Given the description of an element on the screen output the (x, y) to click on. 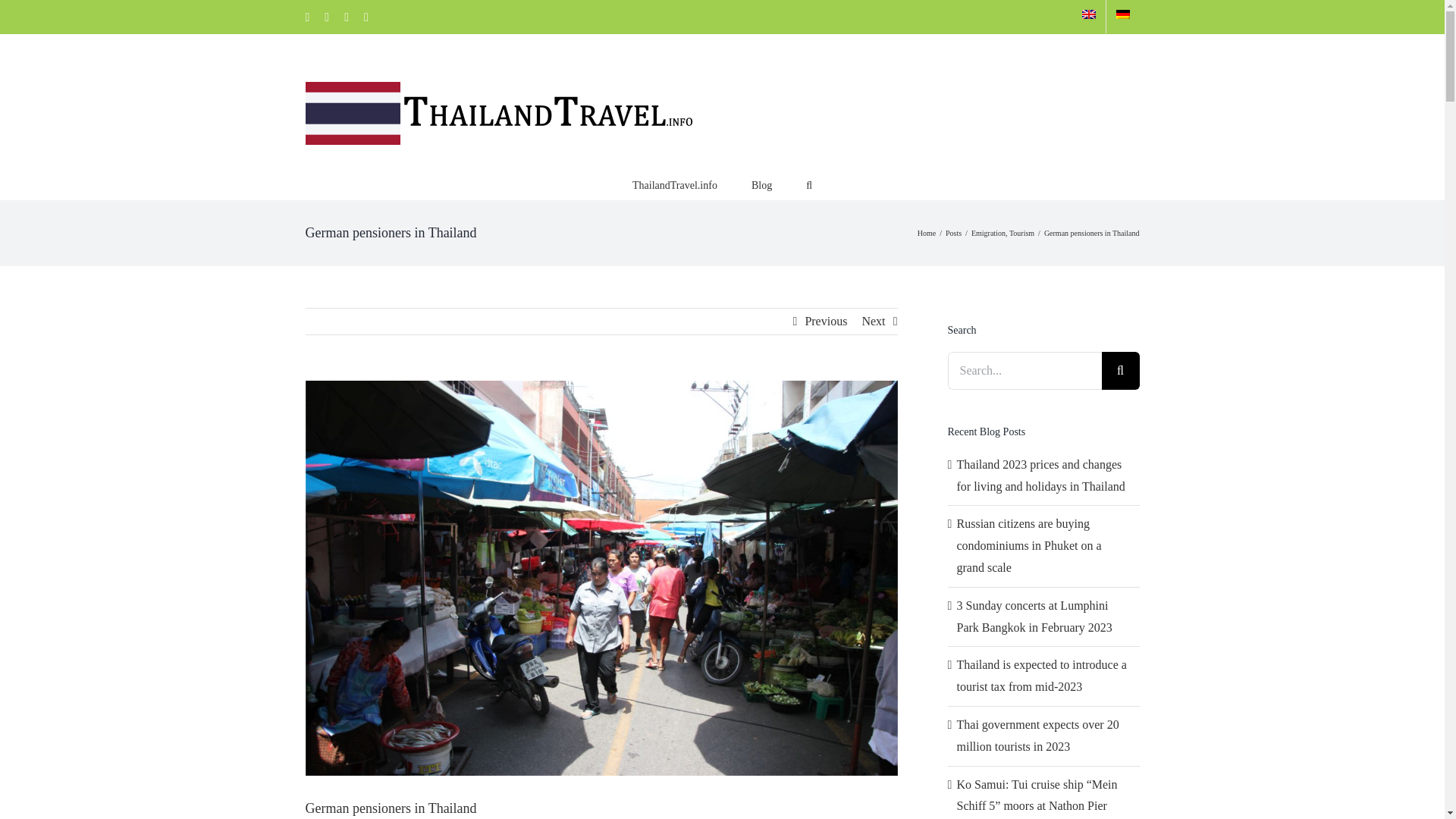
Next (873, 321)
Home (926, 233)
Emigration (988, 233)
Tourism (1021, 233)
Posts (952, 233)
ThailandTravel.info (674, 183)
Previous (826, 321)
